Given the description of an element on the screen output the (x, y) to click on. 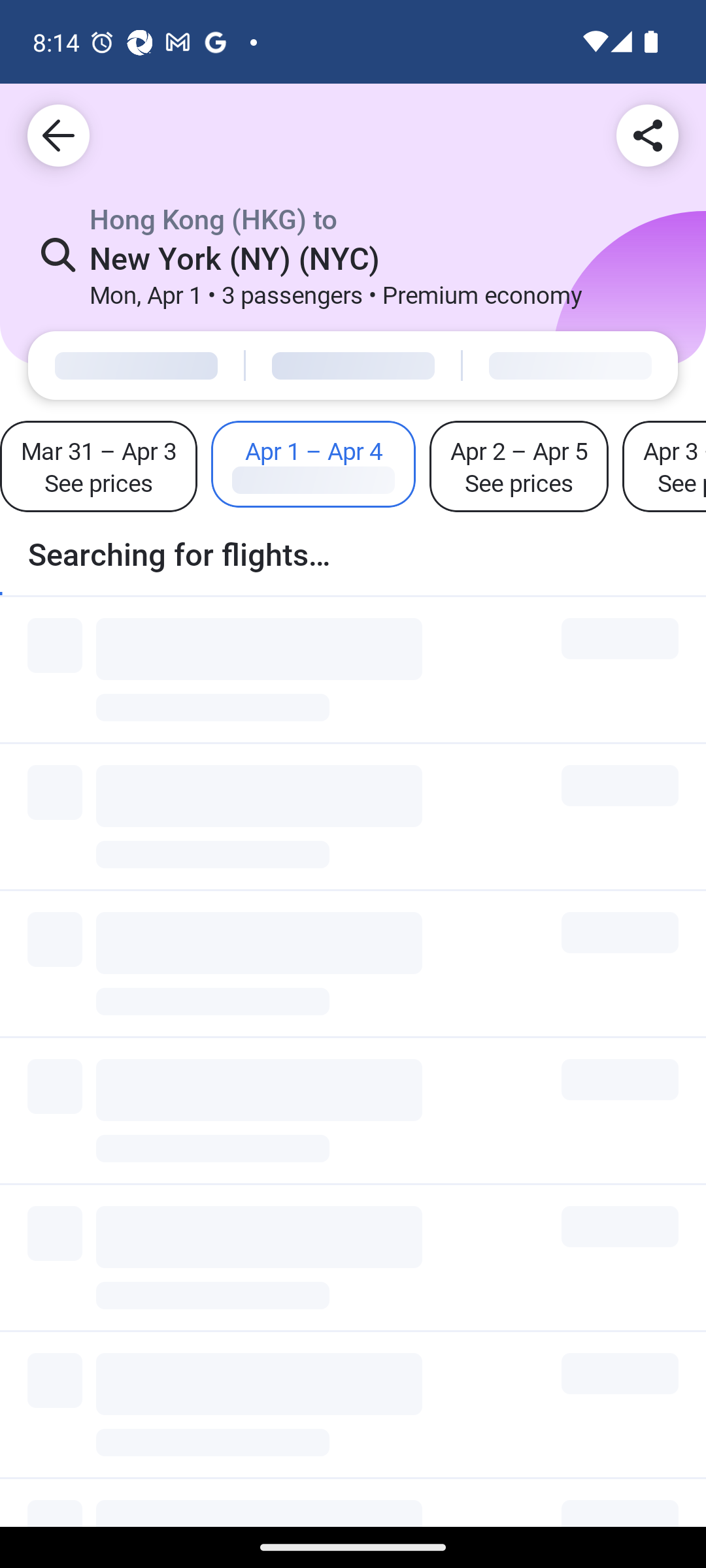
Mar 31 – Apr 3 See prices (98, 466)
Apr 1 – Apr 4 (313, 464)
Apr 2 – Apr 5 See prices (518, 466)
